Given the description of an element on the screen output the (x, y) to click on. 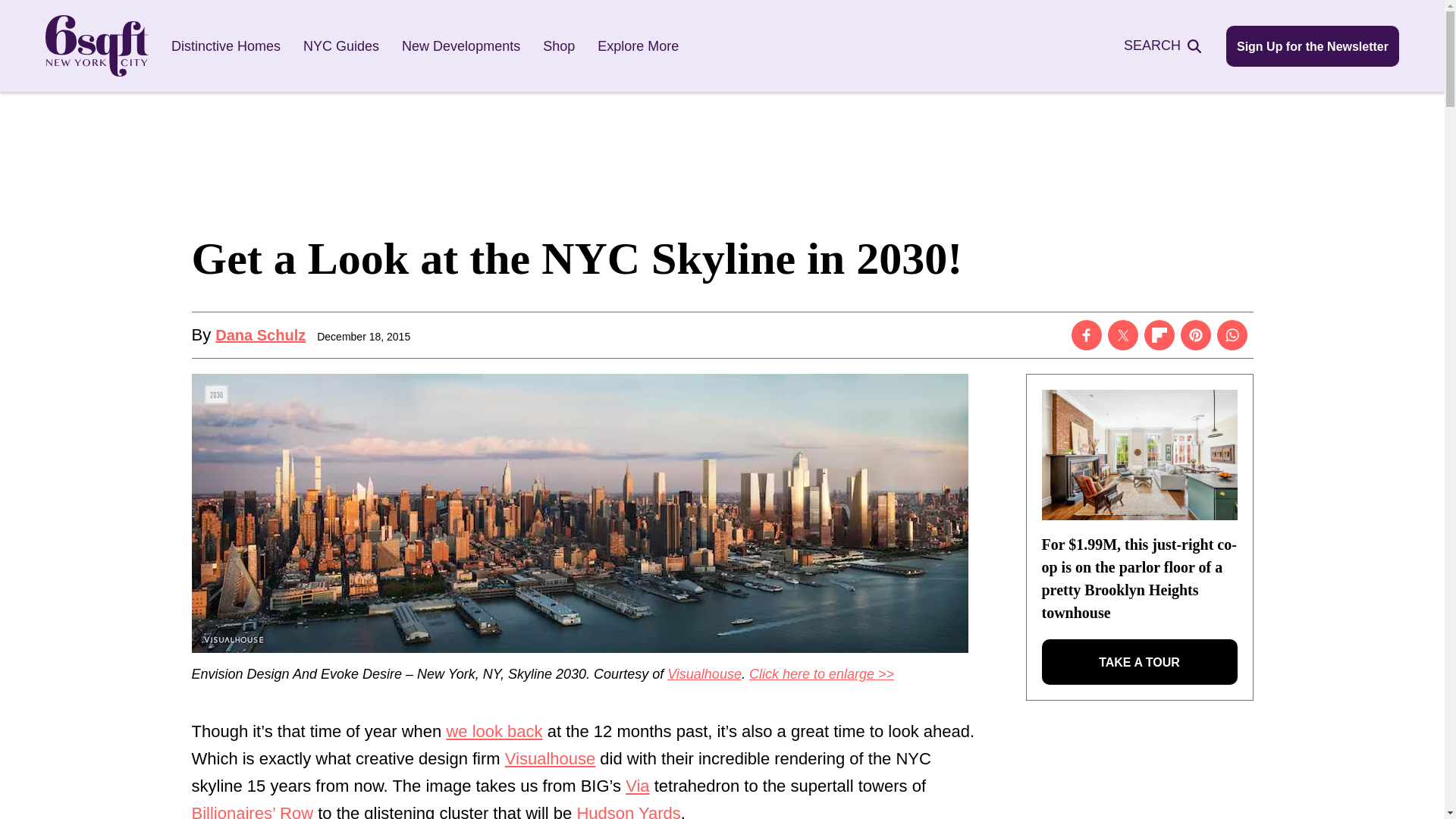
Sign Up for the Newsletter (1312, 45)
Visualhouse (550, 758)
Posts by Dana Schulz (260, 334)
Shop (559, 46)
we look back (493, 731)
Dana Schulz (260, 334)
Explore More (637, 46)
NYC Guides (340, 46)
New Developments (460, 46)
